Given the description of an element on the screen output the (x, y) to click on. 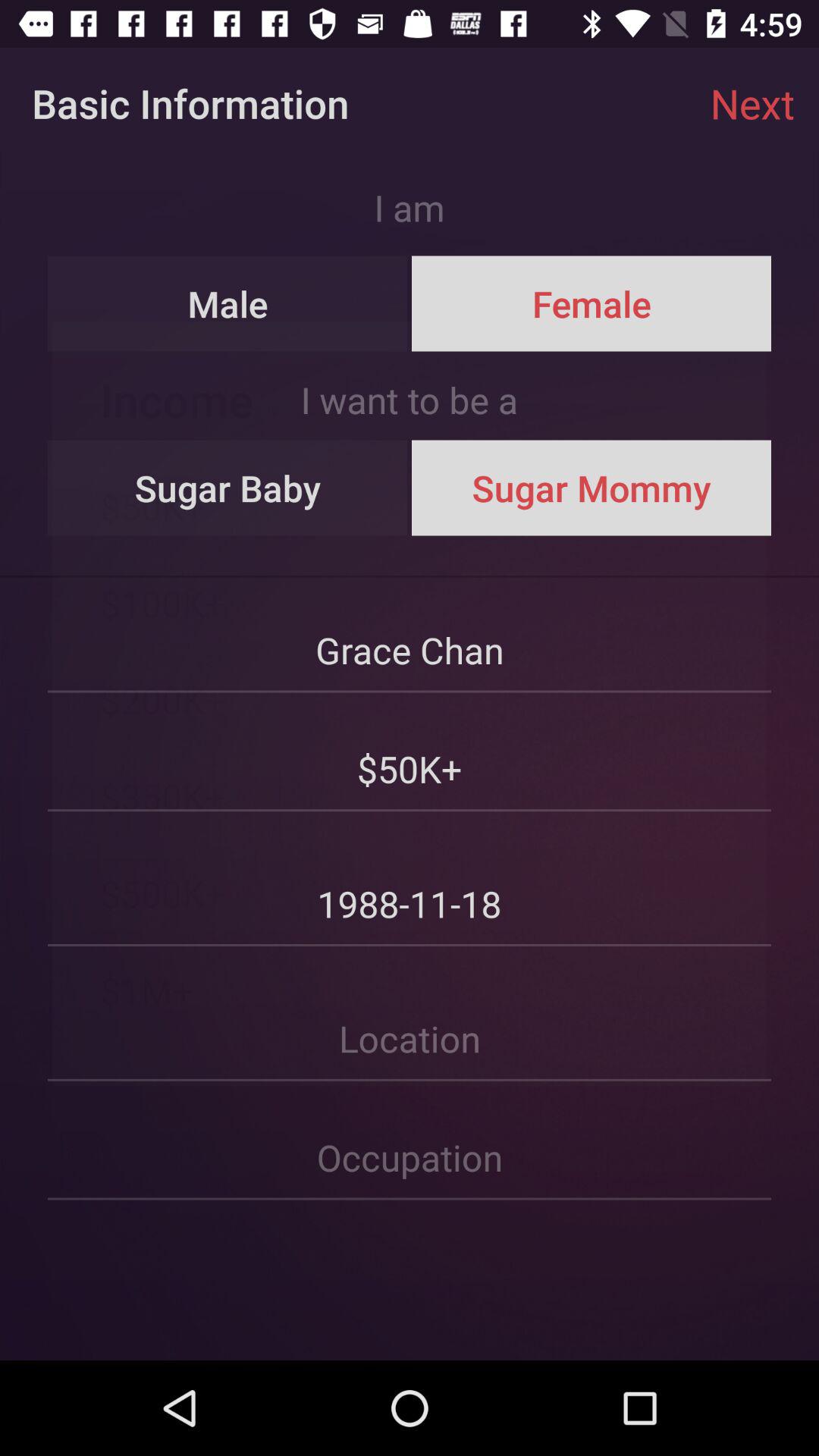
flip until the 1988-11-18 icon (409, 879)
